Given the description of an element on the screen output the (x, y) to click on. 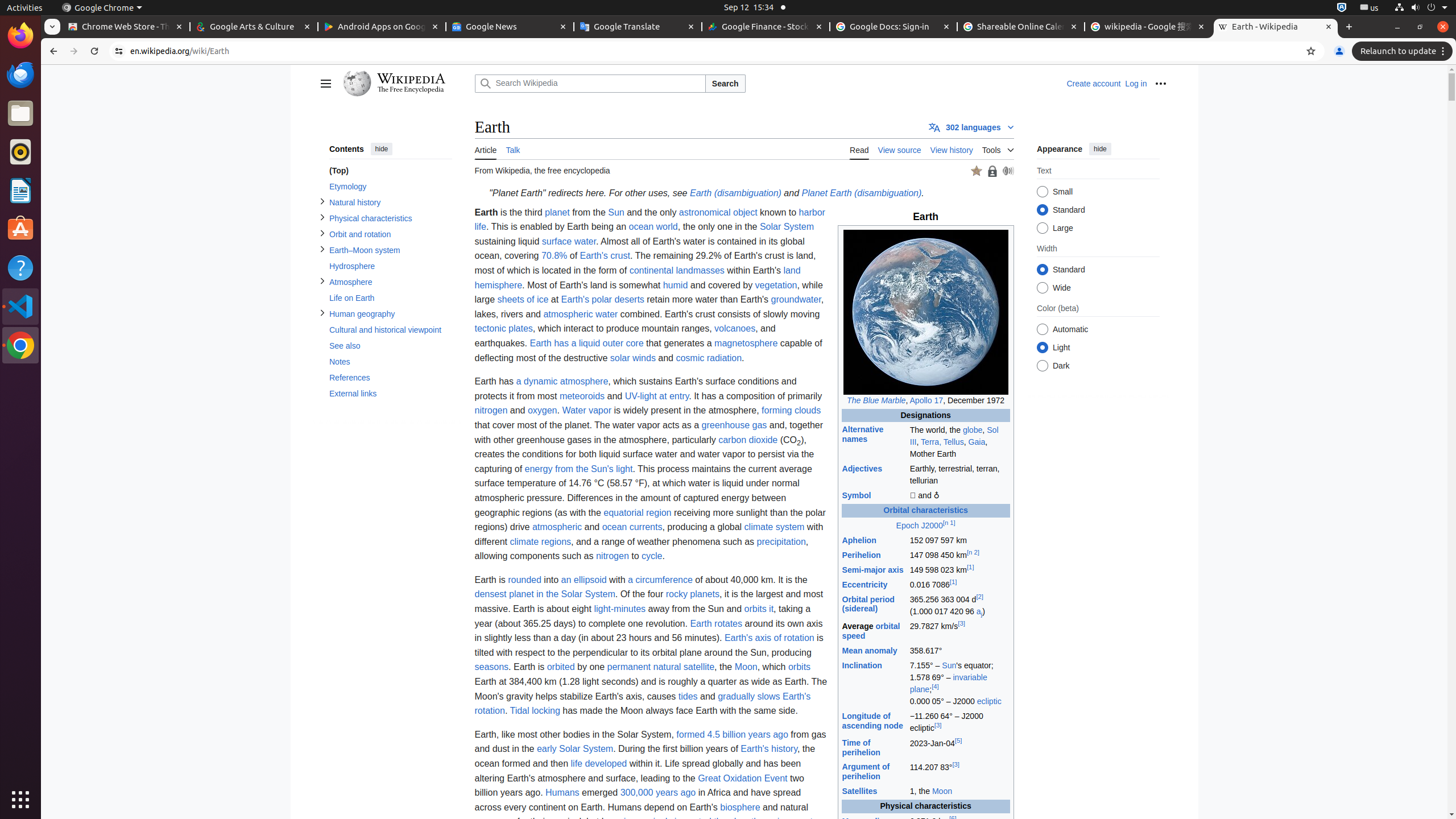
149598023 km[1] Element type: table-cell (959, 570)
Orbital characteristics Element type: link (925, 510)
Rhythmbox Element type: push-button (20, 151)
358.617° Element type: table-cell (959, 650)
atmospheric Element type: link (556, 527)
